Given the description of an element on the screen output the (x, y) to click on. 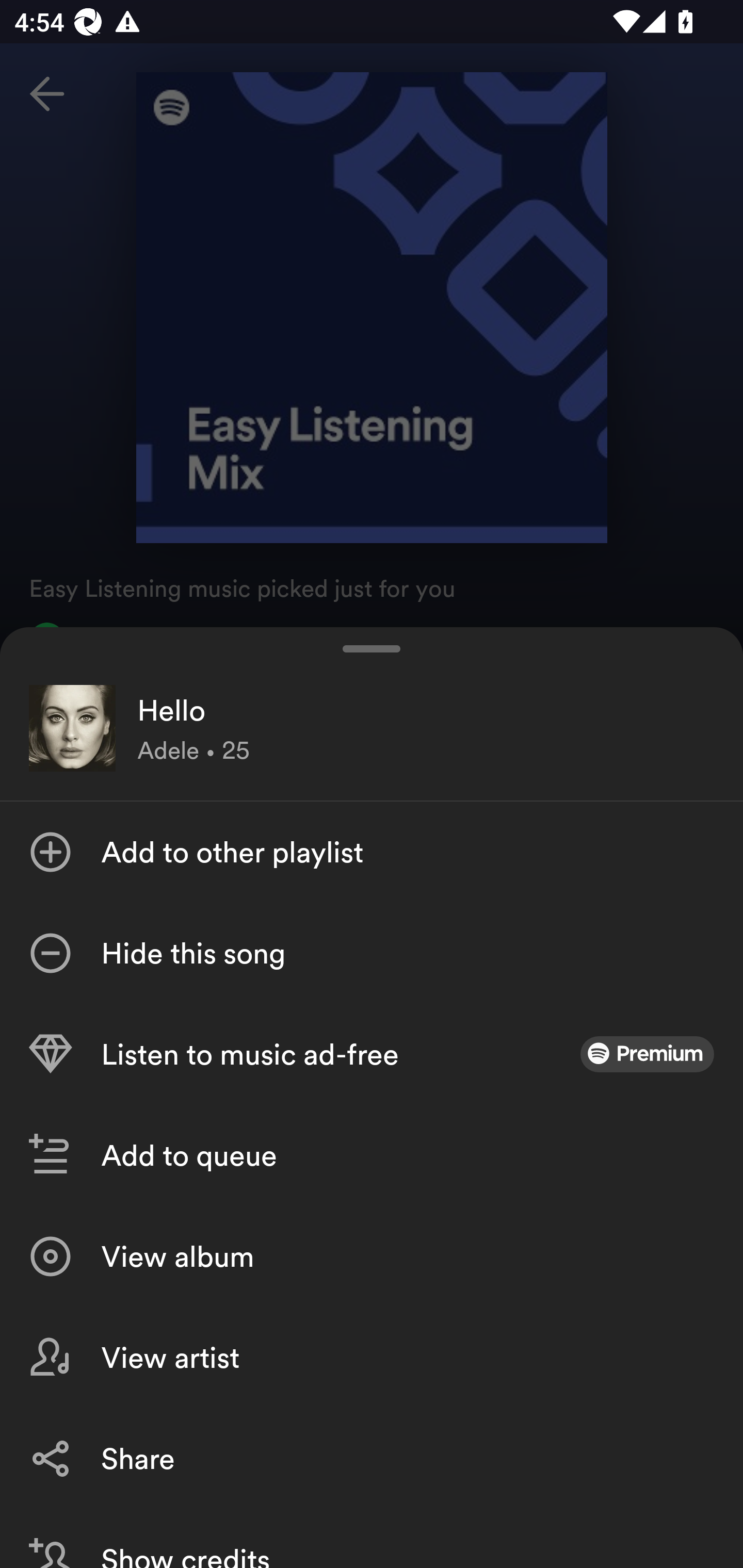
Add to other playlist (371, 852)
Hide this song (371, 953)
Listen to music ad-free (371, 1054)
Add to queue (371, 1155)
View album (371, 1256)
View artist (371, 1357)
Share (371, 1458)
Show credits (371, 1538)
